Given the description of an element on the screen output the (x, y) to click on. 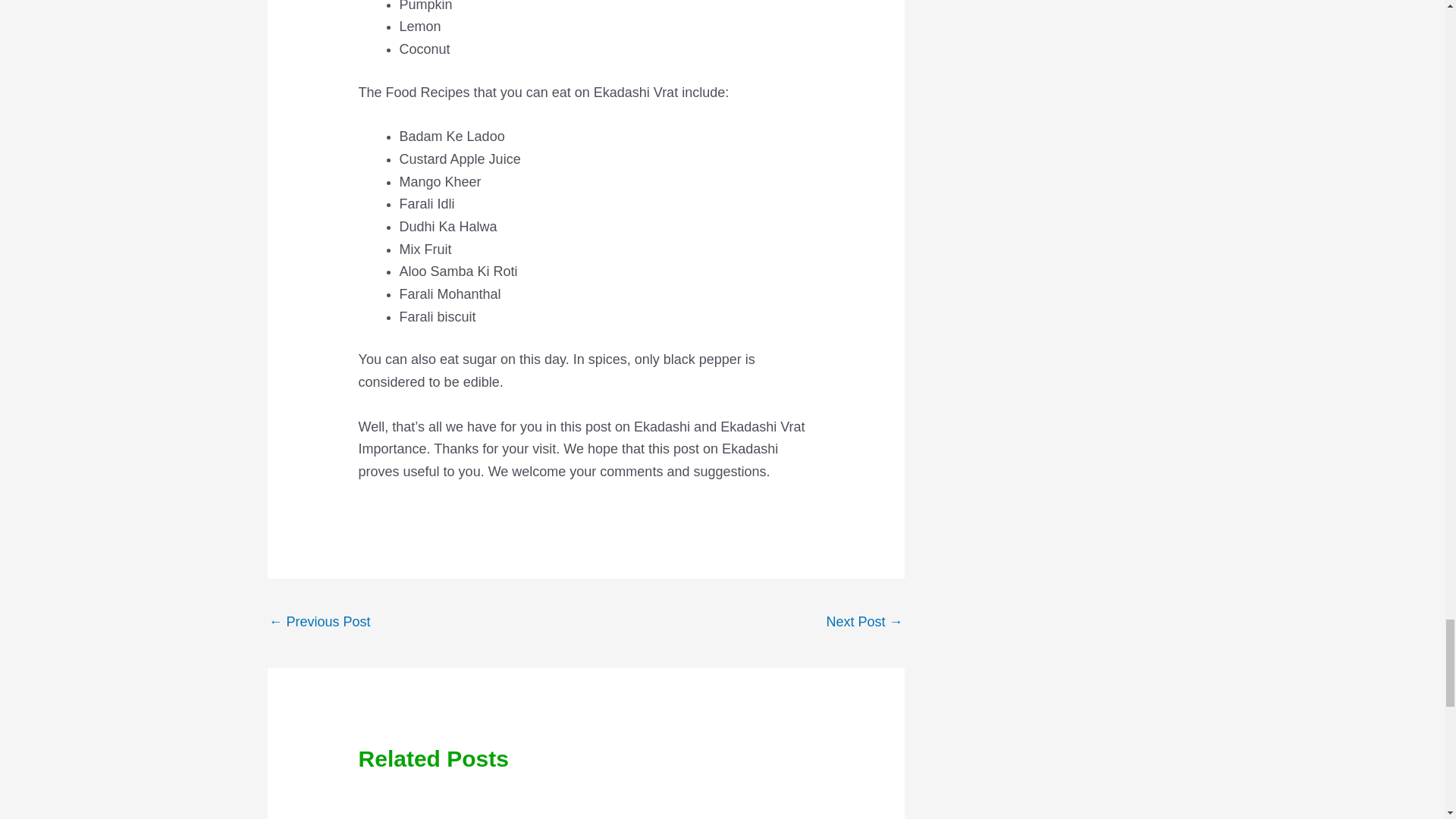
Powerful Shanti Mantra for Peace in Life (318, 623)
2016 Indian Festival Calendar 4 (703, 805)
Rameshwaram Temple History and Timings (863, 623)
